Given the description of an element on the screen output the (x, y) to click on. 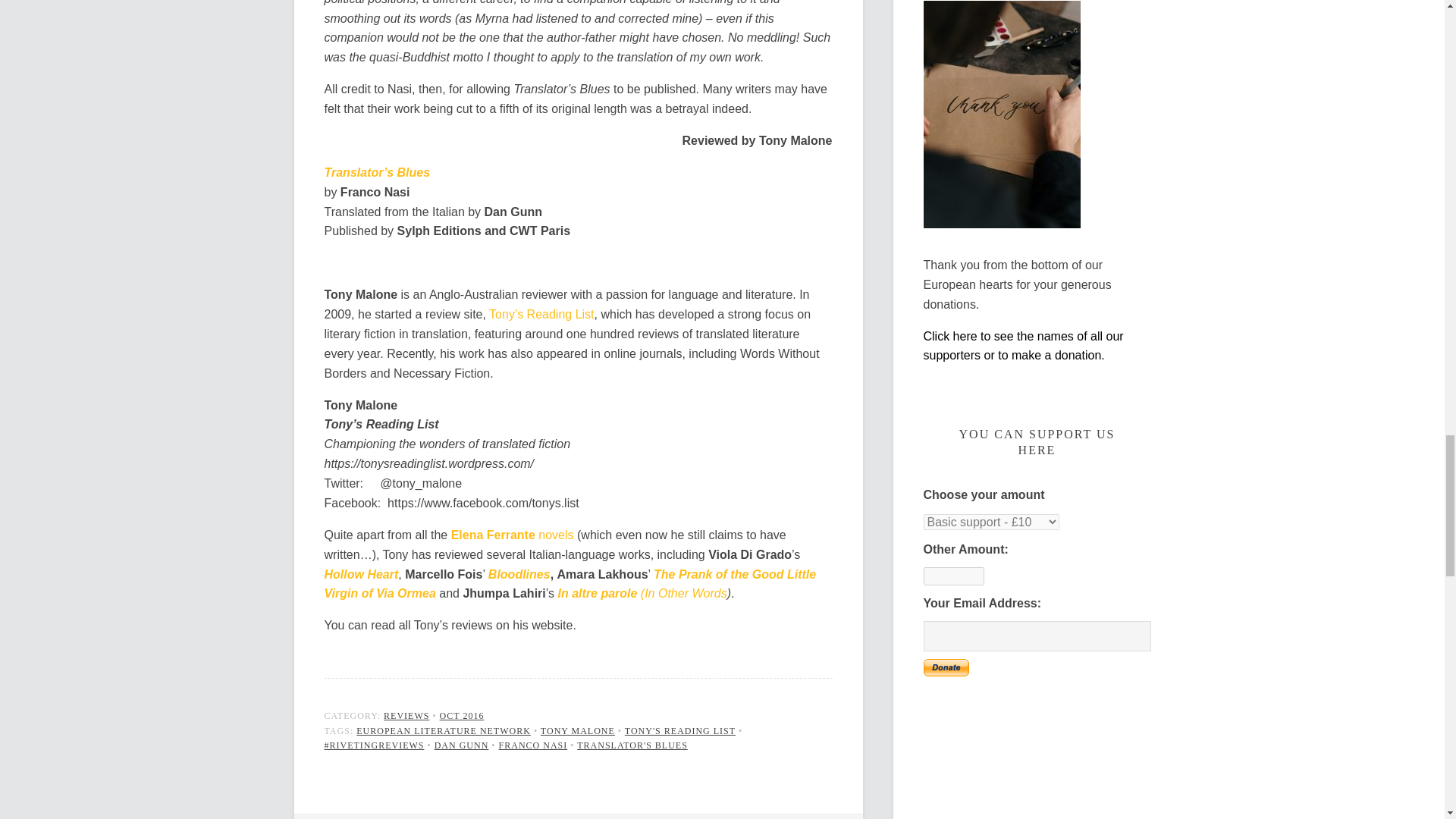
Other Amount (953, 576)
